Given the description of an element on the screen output the (x, y) to click on. 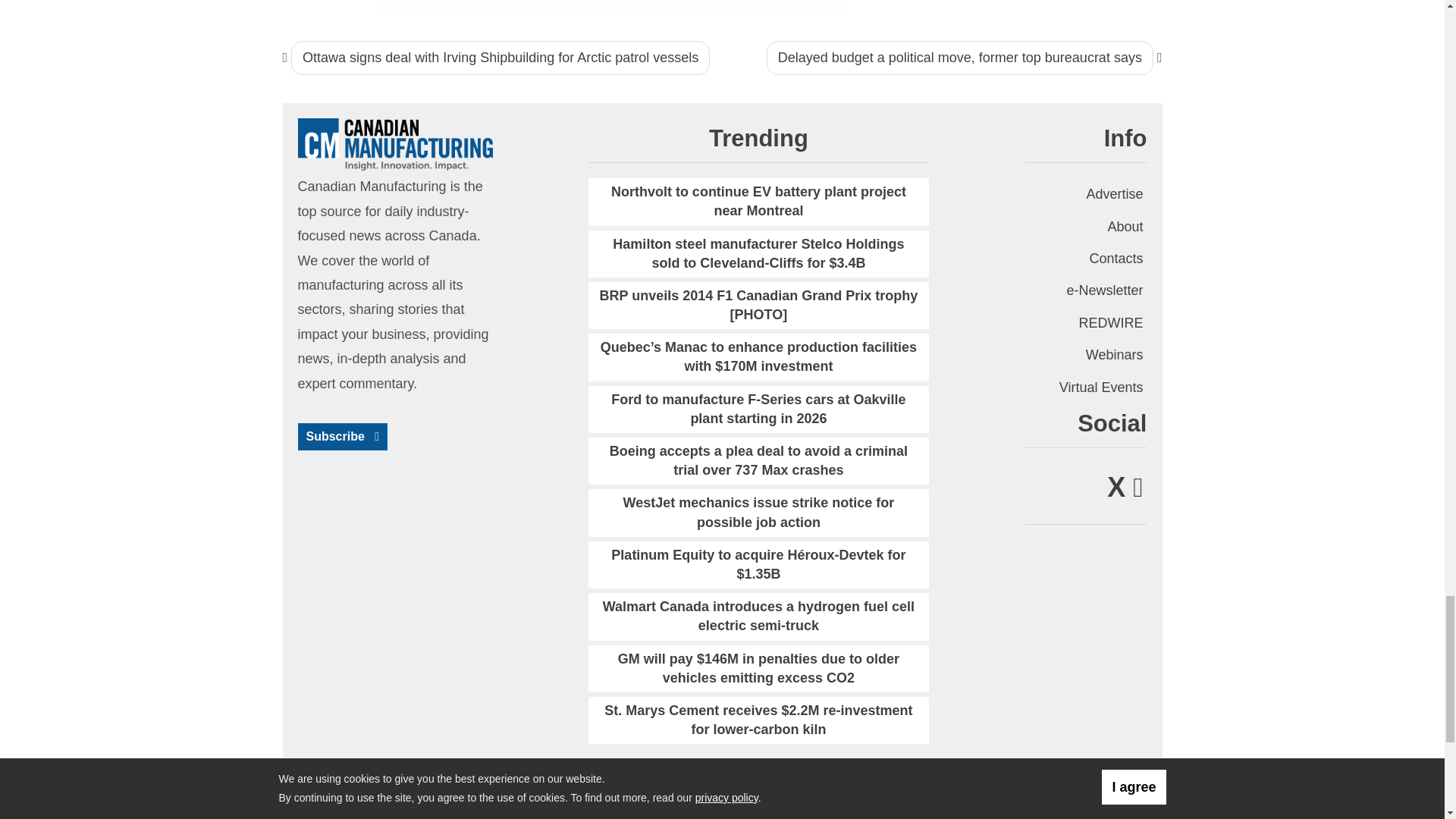
Canadian Manufacturing (395, 142)
3rd party ad content (609, 8)
